Given the description of an element on the screen output the (x, y) to click on. 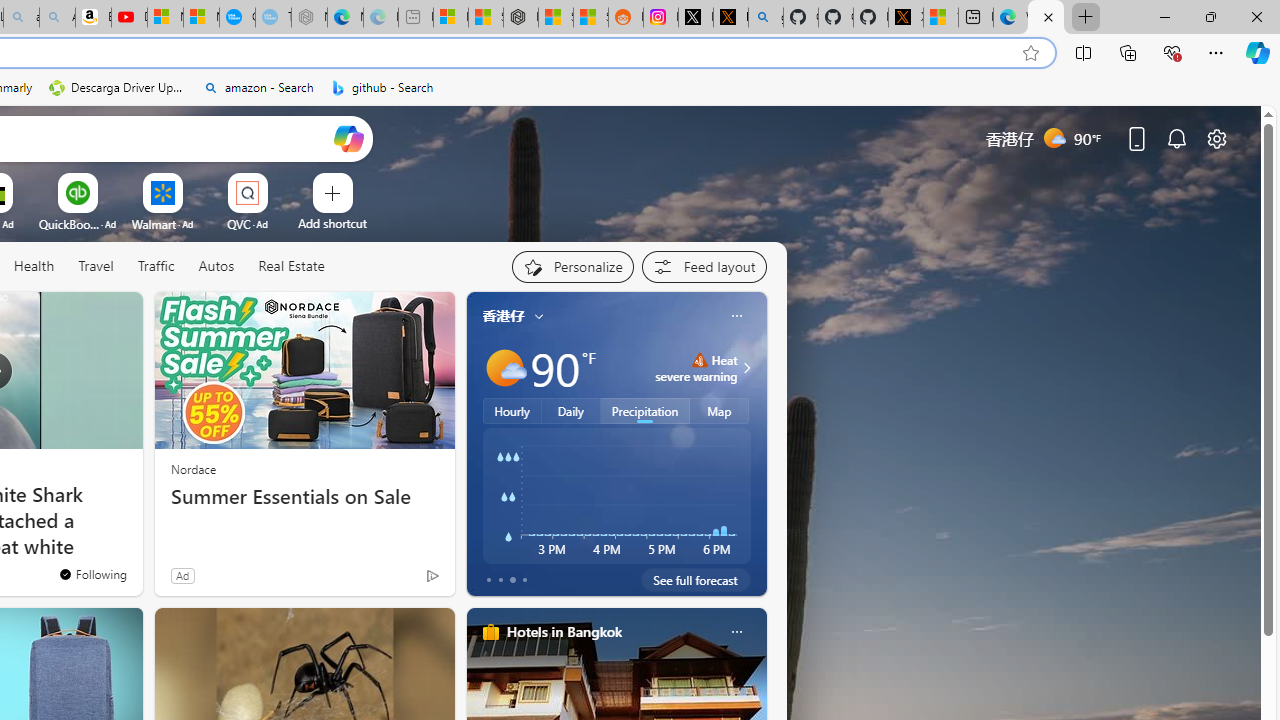
Autos (215, 265)
Add this page to favorites (Ctrl+D) (1030, 53)
hotels-header-icon (490, 632)
Precipitation (645, 411)
tab-3 (524, 579)
Open Copilot (347, 138)
Settings and more (Alt+F) (1215, 52)
Split screen (1083, 52)
Class: icon-img (736, 632)
Feed settings (703, 266)
Collections (1128, 52)
New tab - Sleeping (415, 17)
